Given the description of an element on the screen output the (x, y) to click on. 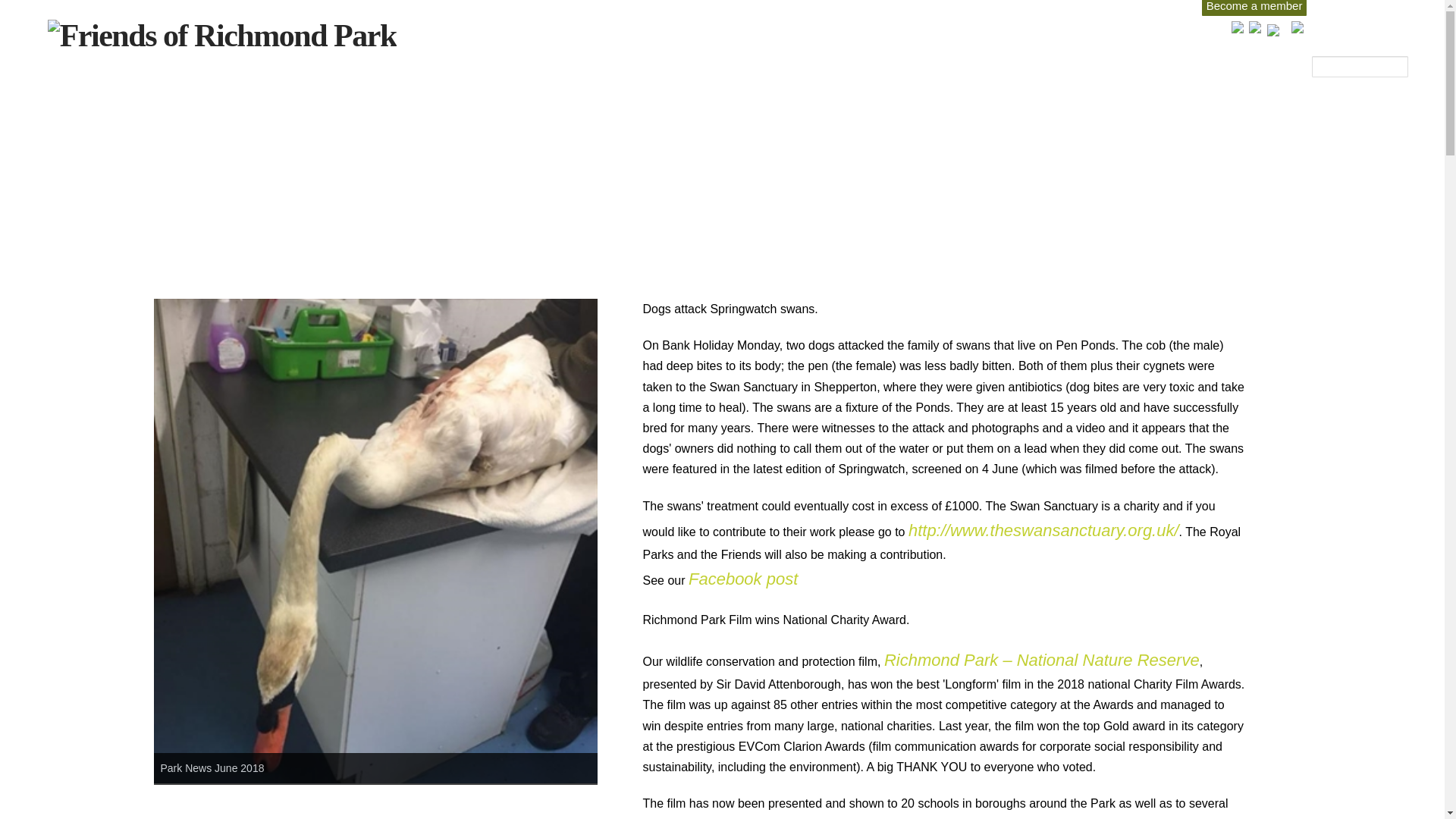
Families (1053, 33)
About the Friends (839, 33)
Visiting the Park (958, 33)
Contact us (1338, 26)
About the Park (724, 33)
